Given the description of an element on the screen output the (x, y) to click on. 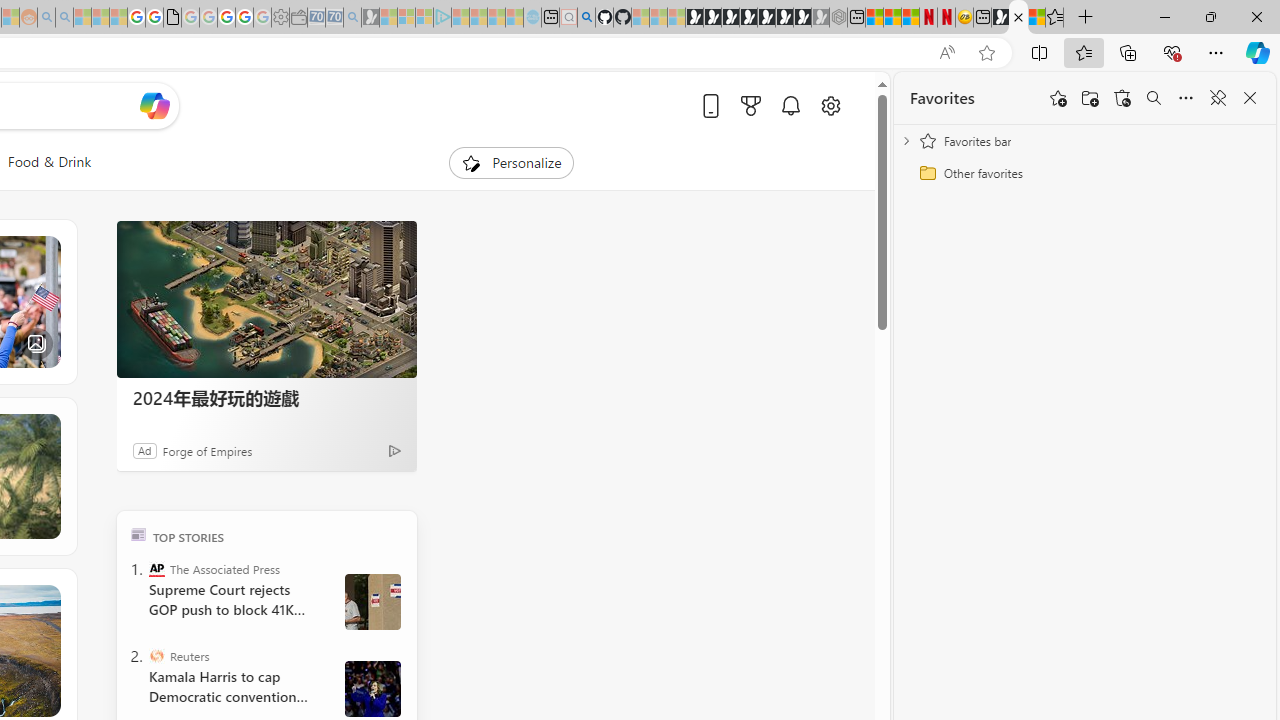
Forge of Empires (207, 450)
Utah sues federal government - Search - Sleeping (64, 17)
Restore deleted favorites (1122, 98)
